Given the description of an element on the screen output the (x, y) to click on. 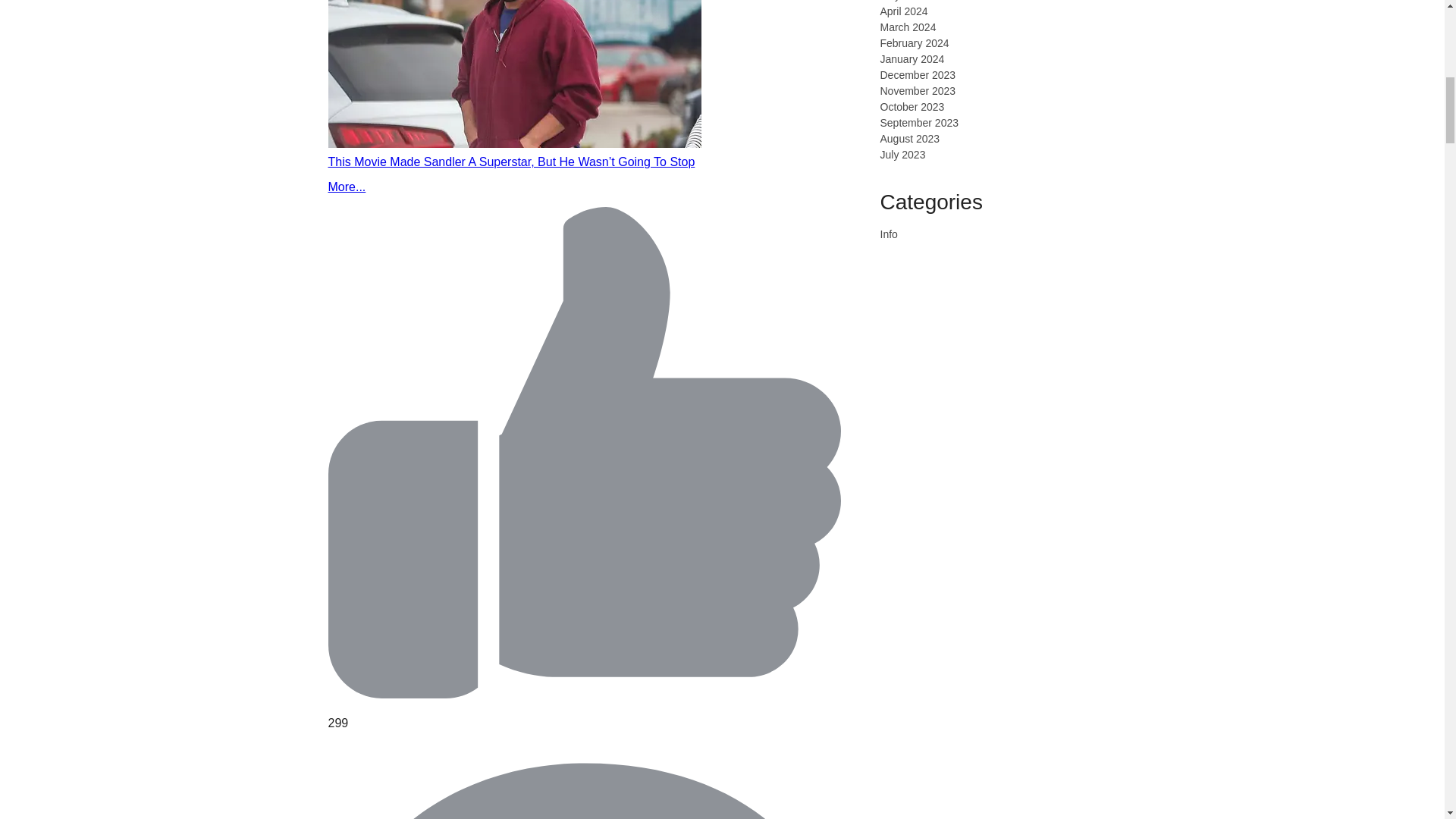
April 2024 (903, 10)
March 2024 (907, 27)
May 2024 (902, 0)
November 2023 (917, 91)
February 2024 (914, 42)
September 2023 (918, 122)
January 2024 (911, 59)
October 2023 (911, 106)
December 2023 (917, 74)
